Given the description of an element on the screen output the (x, y) to click on. 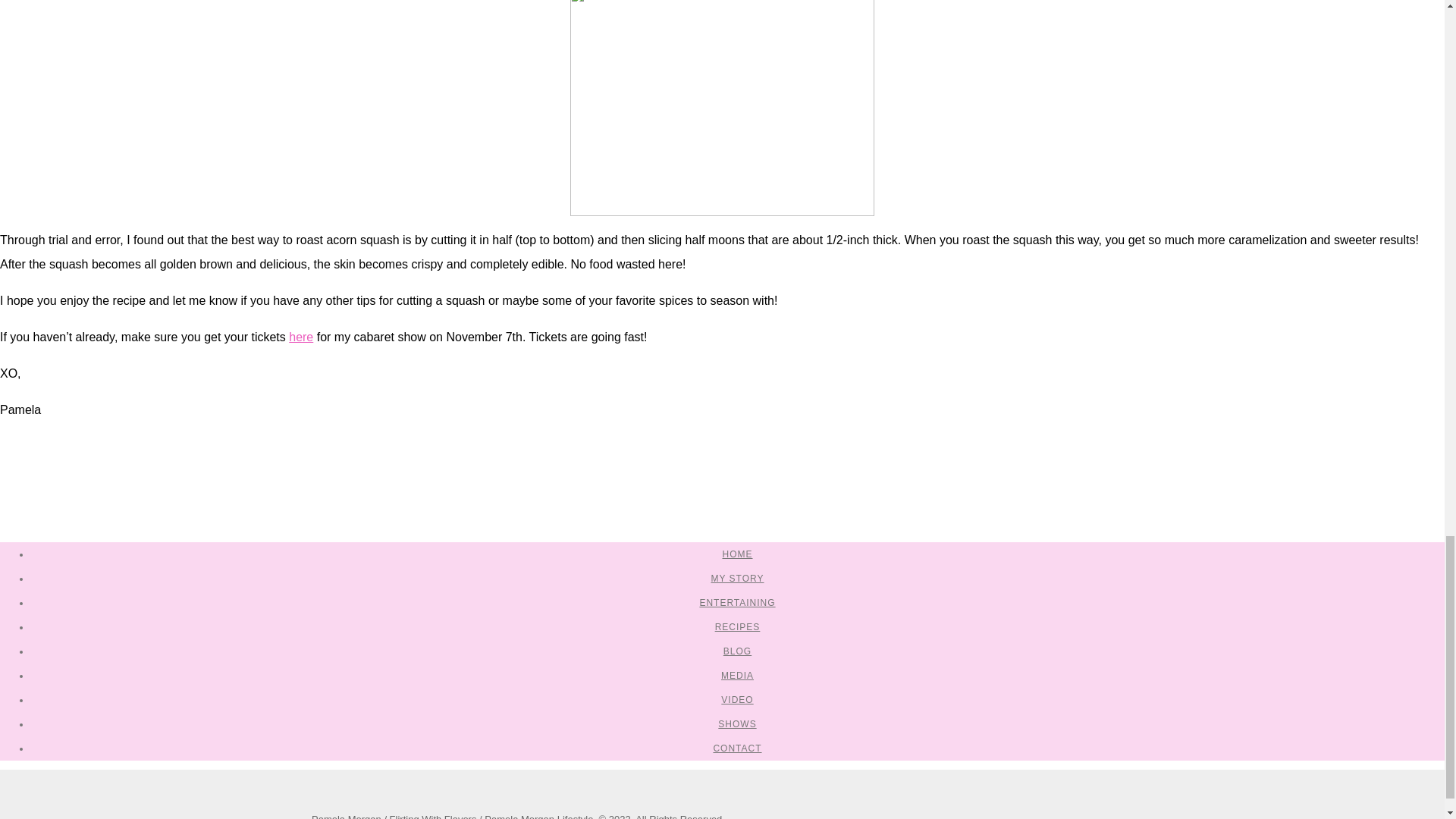
MEDIA (737, 675)
MY STORY (736, 578)
HOME (737, 553)
BLOG (737, 651)
here (300, 336)
VIDEO (736, 699)
CONTACT (737, 747)
ENTERTAINING (736, 602)
RECIPES (737, 626)
SHOWS (736, 724)
